Given the description of an element on the screen output the (x, y) to click on. 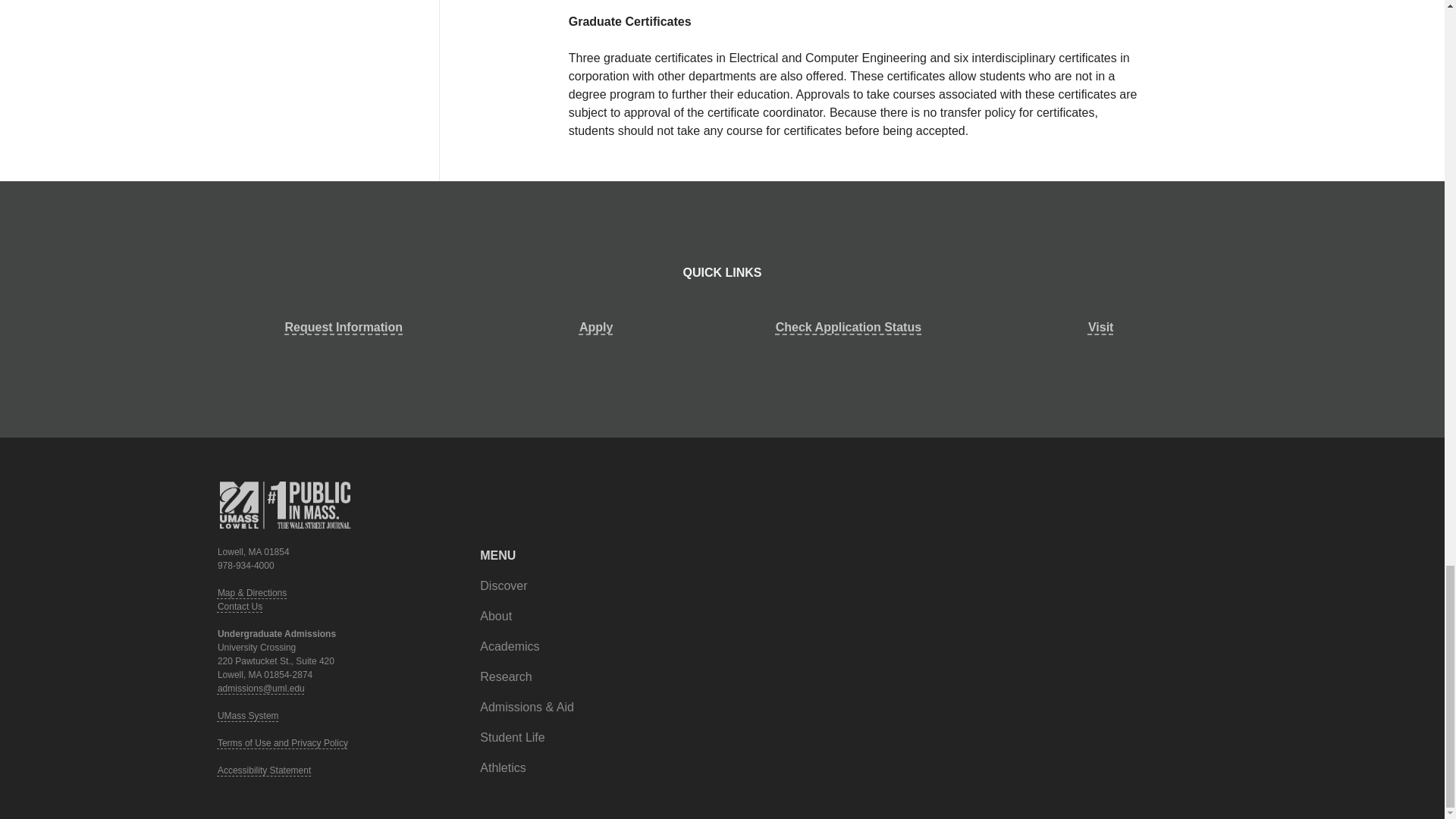
Apply (596, 327)
Check Application Status (848, 327)
Request Information (343, 327)
Visit (1100, 327)
